Given the description of an element on the screen output the (x, y) to click on. 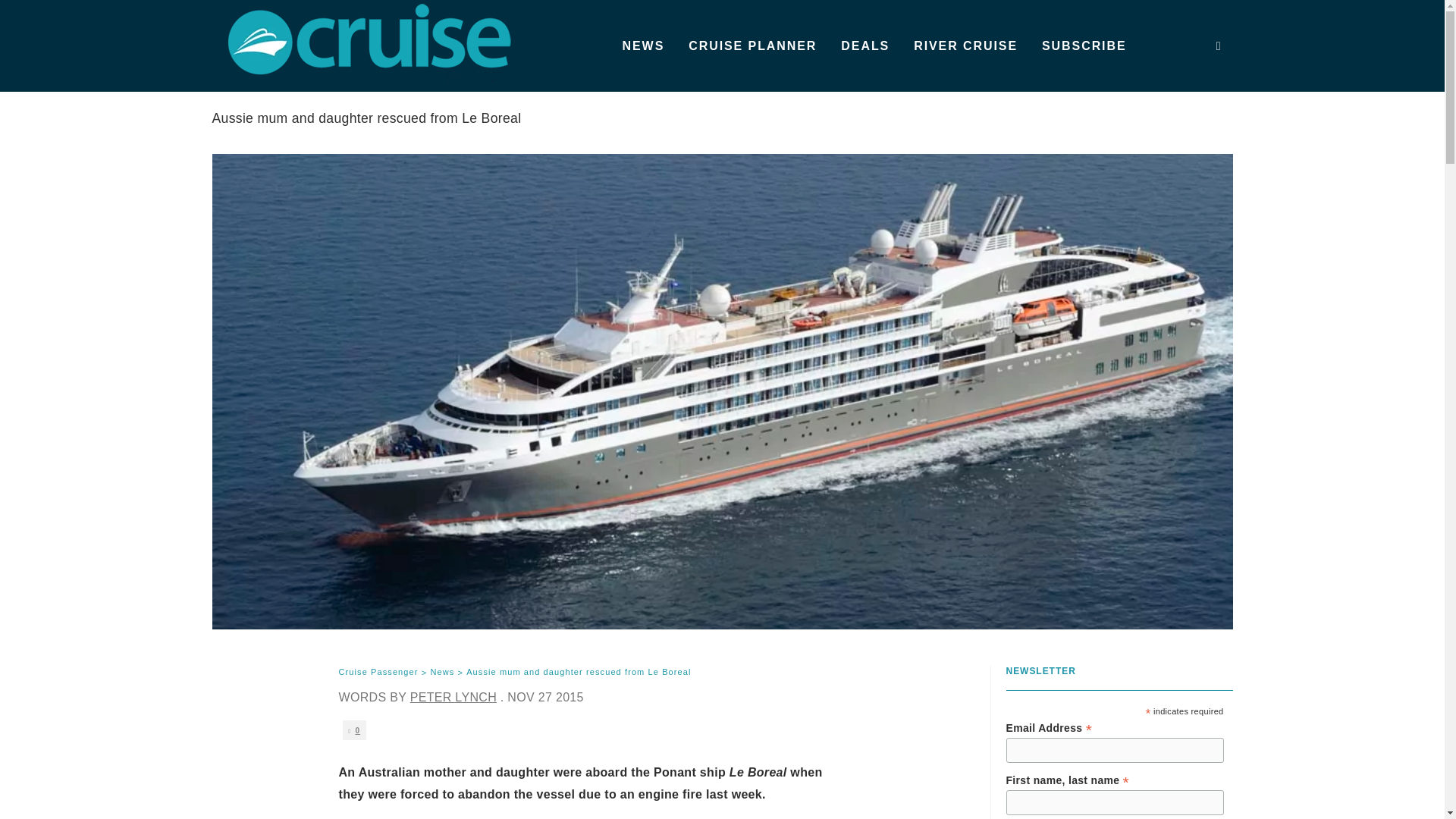
Go to Cruise Passenger. (377, 672)
CRUISE PLANNER (752, 45)
PETER LYNCH (453, 697)
News (441, 672)
DEALS (864, 45)
Cruise Passenger (377, 672)
RIVER CRUISE (965, 45)
Go to the News Category archives. (441, 672)
SUBSCRIBE (1083, 45)
NEWS (643, 45)
